Given the description of an element on the screen output the (x, y) to click on. 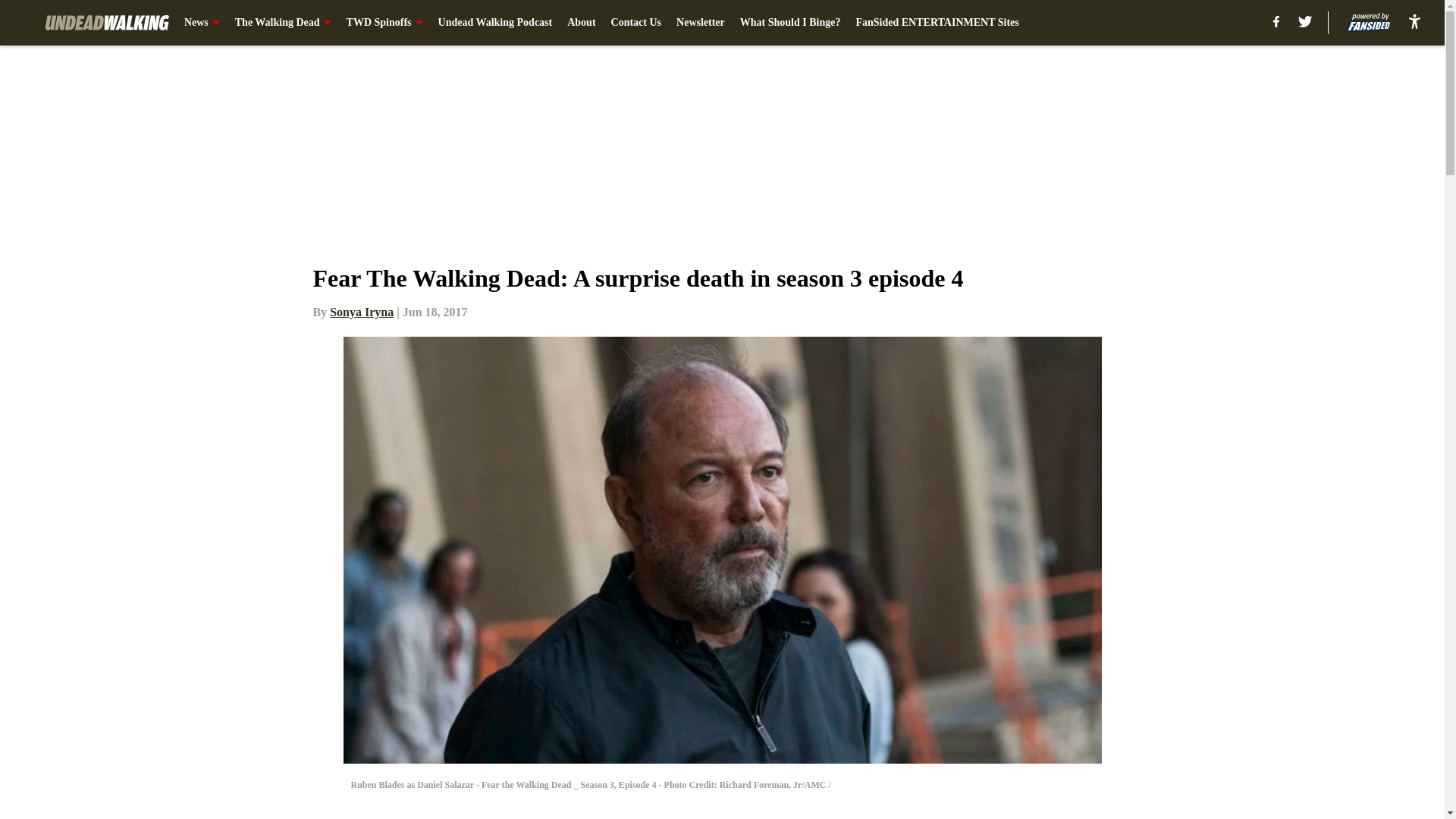
Newsletter (701, 22)
Undead Walking Podcast (495, 22)
FanSided ENTERTAINMENT Sites (936, 22)
Contact Us (636, 22)
About (581, 22)
What Should I Binge? (790, 22)
Sonya Iryna (361, 311)
